Given the description of an element on the screen output the (x, y) to click on. 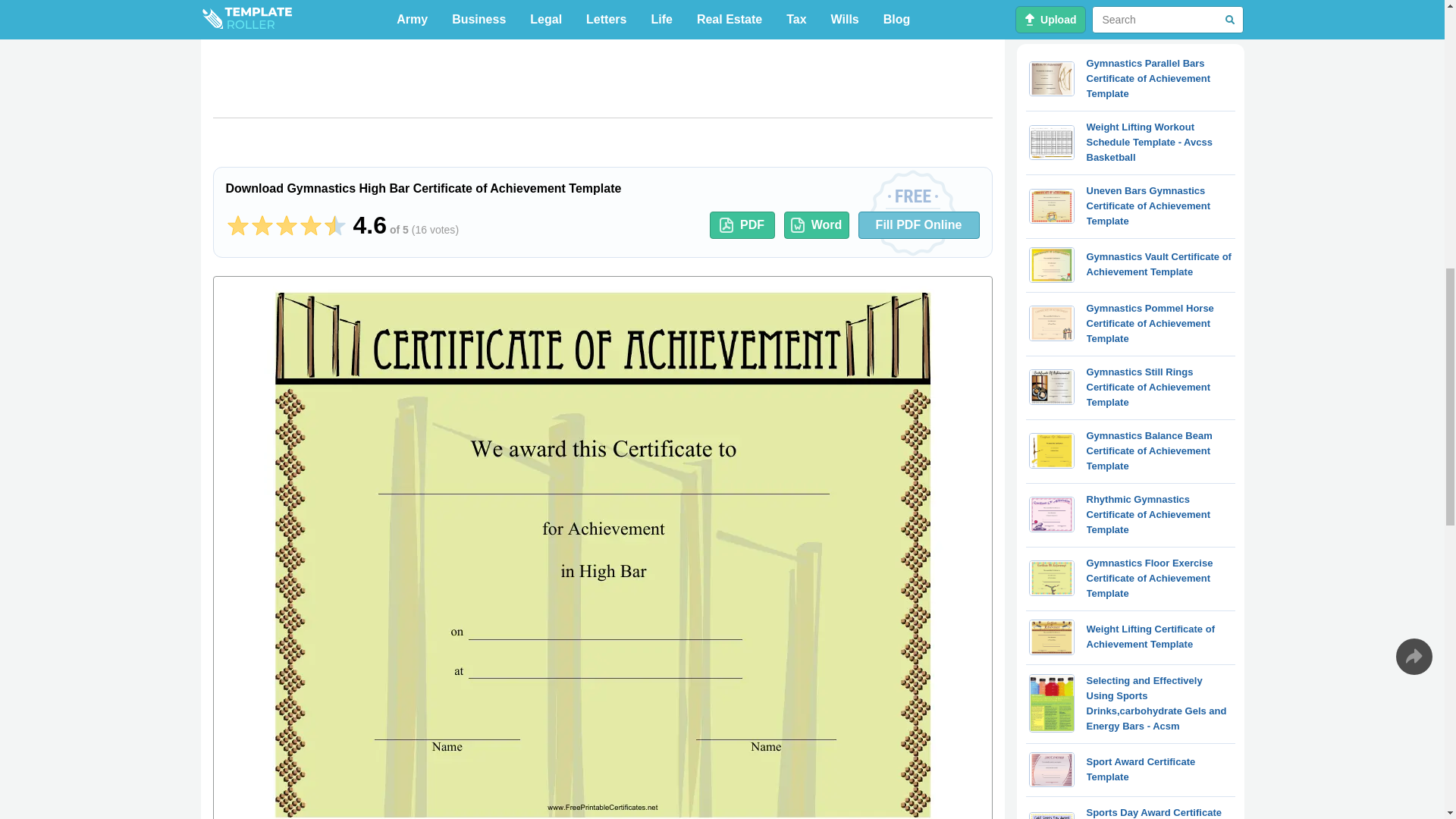
Fill PDF Online (919, 225)
PDF (742, 225)
Word (816, 225)
